Given the description of an element on the screen output the (x, y) to click on. 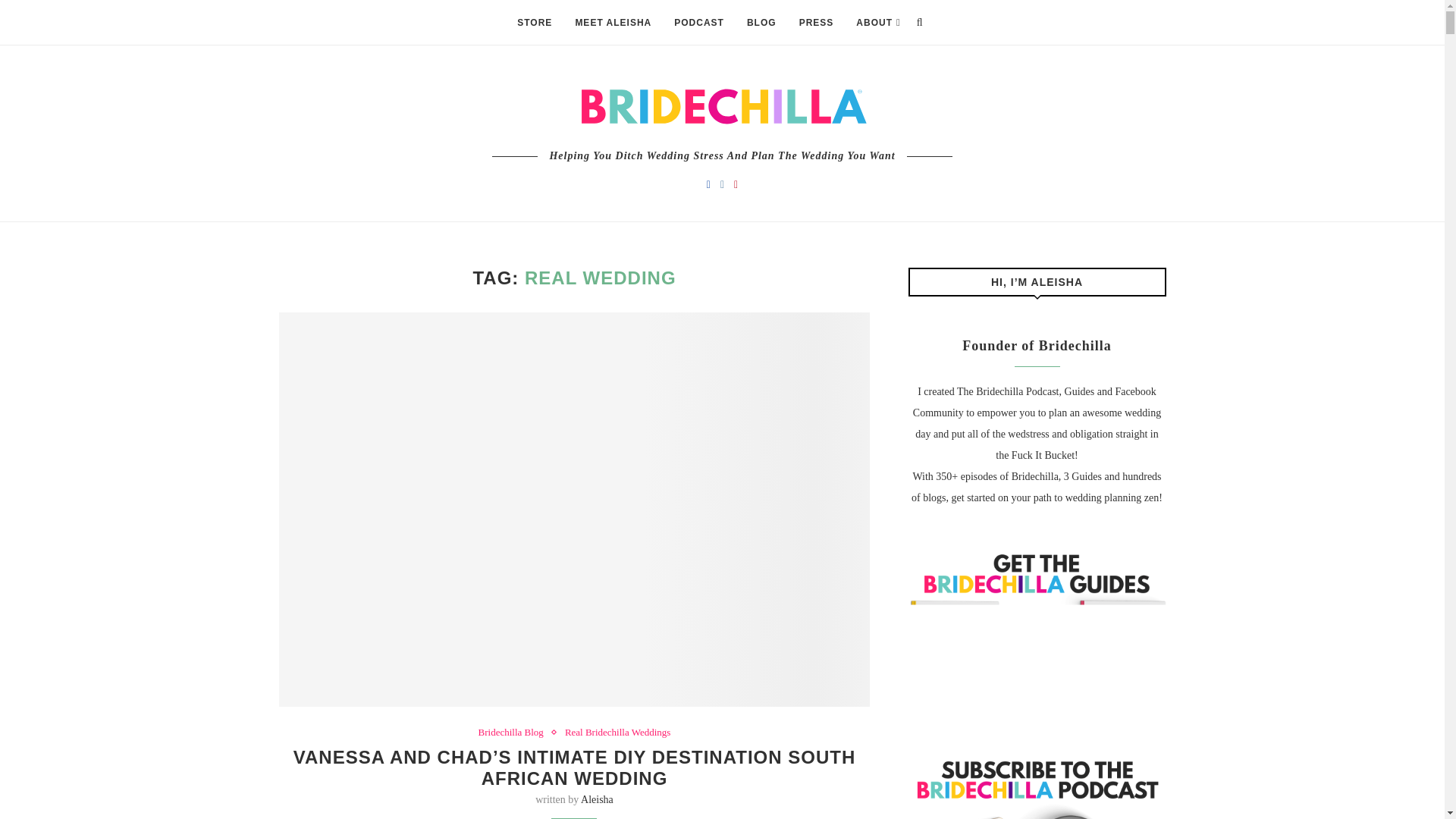
MEET ALEISHA (612, 22)
Bridechilla Blog (515, 732)
Real Bridechilla Weddings (617, 732)
Aleisha (596, 799)
PODCAST (698, 22)
ABOUT (877, 22)
